Given the description of an element on the screen output the (x, y) to click on. 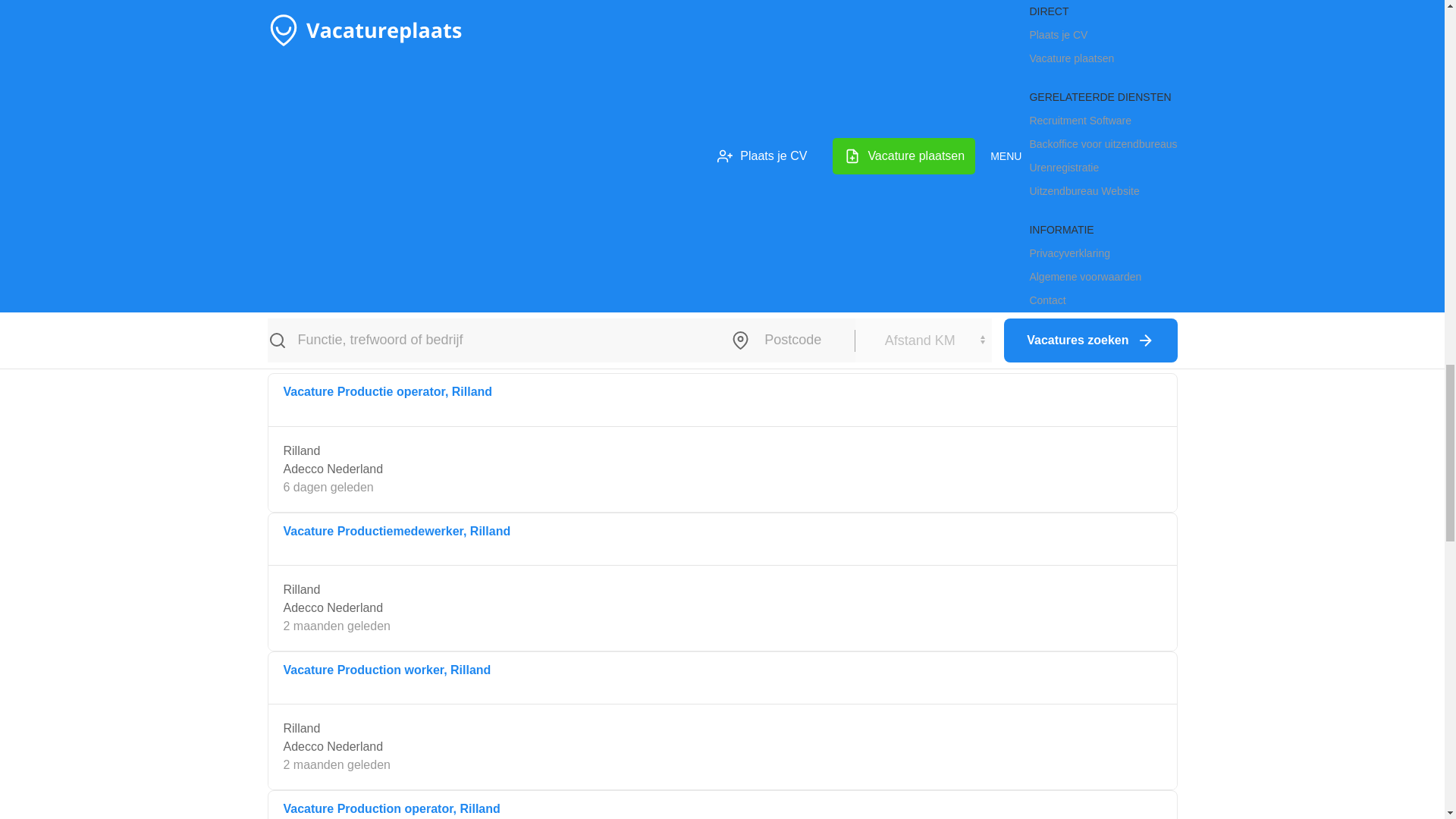
Vacature Production operator, Rilland (391, 808)
Vacature Production worker, Rilland (387, 669)
SOLLICITEREN (722, 278)
Vacature Productie operator, Rilland (388, 391)
Vacature Productiemedewerker, Rilland (397, 530)
